Given the description of an element on the screen output the (x, y) to click on. 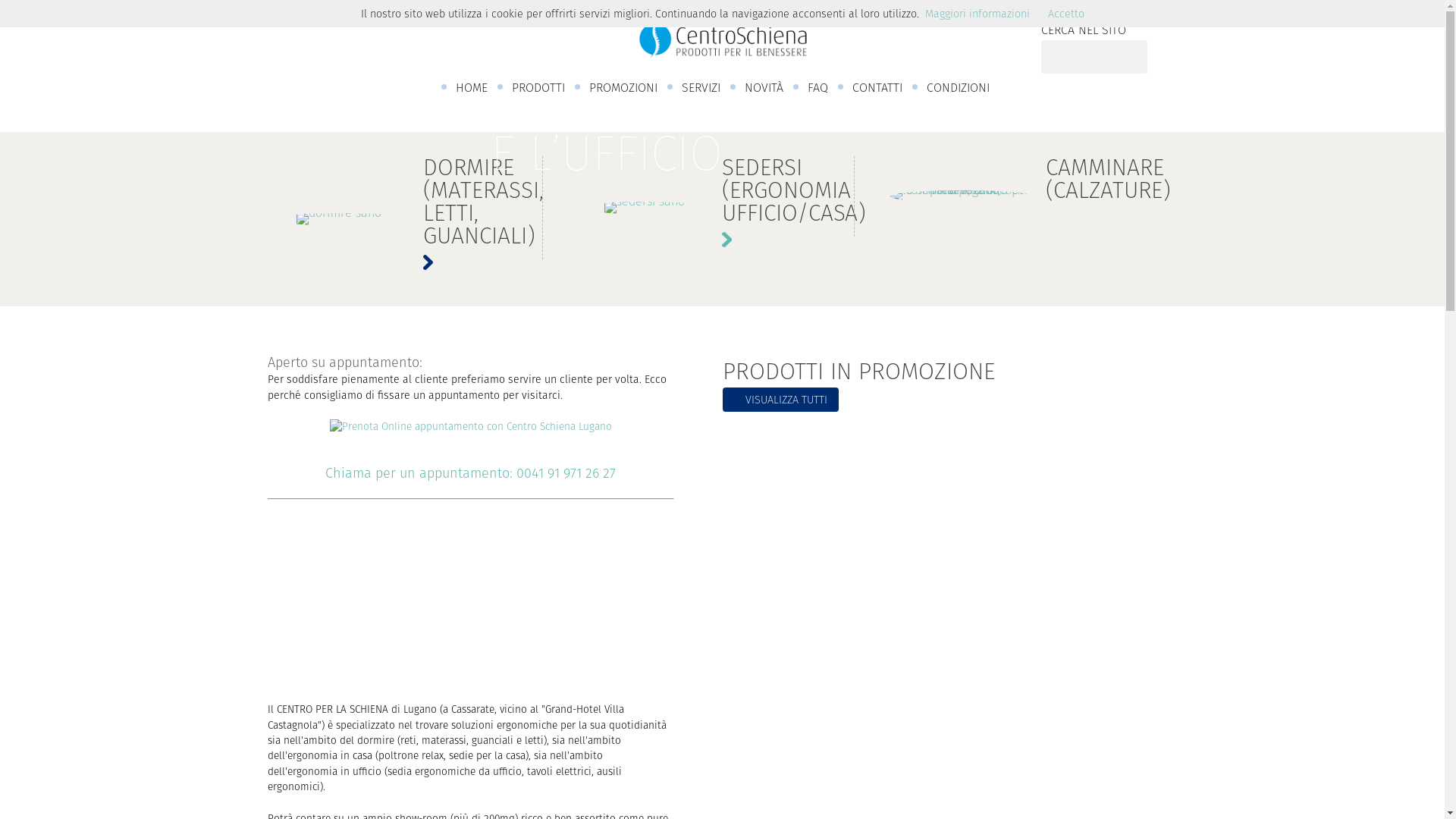
CONDIZIONI Element type: text (957, 87)
FAQ Element type: text (816, 87)
PRODOTTI Element type: text (537, 87)
Camminare (Calzature) Element type: hover (1033, 196)
CONTATTI Element type: text (877, 87)
Camminare (Calzature) Element type: hover (961, 196)
Maggiori informazioni Element type: text (977, 13)
Chiama per un appuntamento Element type: text (417, 474)
Dormire (Materassi, Letti, Guanciali) Element type: hover (411, 219)
Sedersi (Ergonomia Ufficio/Casa) Element type: hover (722, 207)
Dormire (Materassi, Letti, Guanciali) Element type: hover (339, 219)
Accetto Element type: text (1066, 13)
PROMOZIONI Element type: text (622, 87)
Sedersi (Ergonomia Ufficio/Casa) Element type: hover (643, 207)
a Element type: text (470, 442)
VISUALIZZA TUTTI Element type: text (779, 399)
SERVIZI Element type: text (699, 87)
HOME Element type: text (470, 87)
: 0041 91 971 26 27 Element type: text (562, 474)
